Given the description of an element on the screen output the (x, y) to click on. 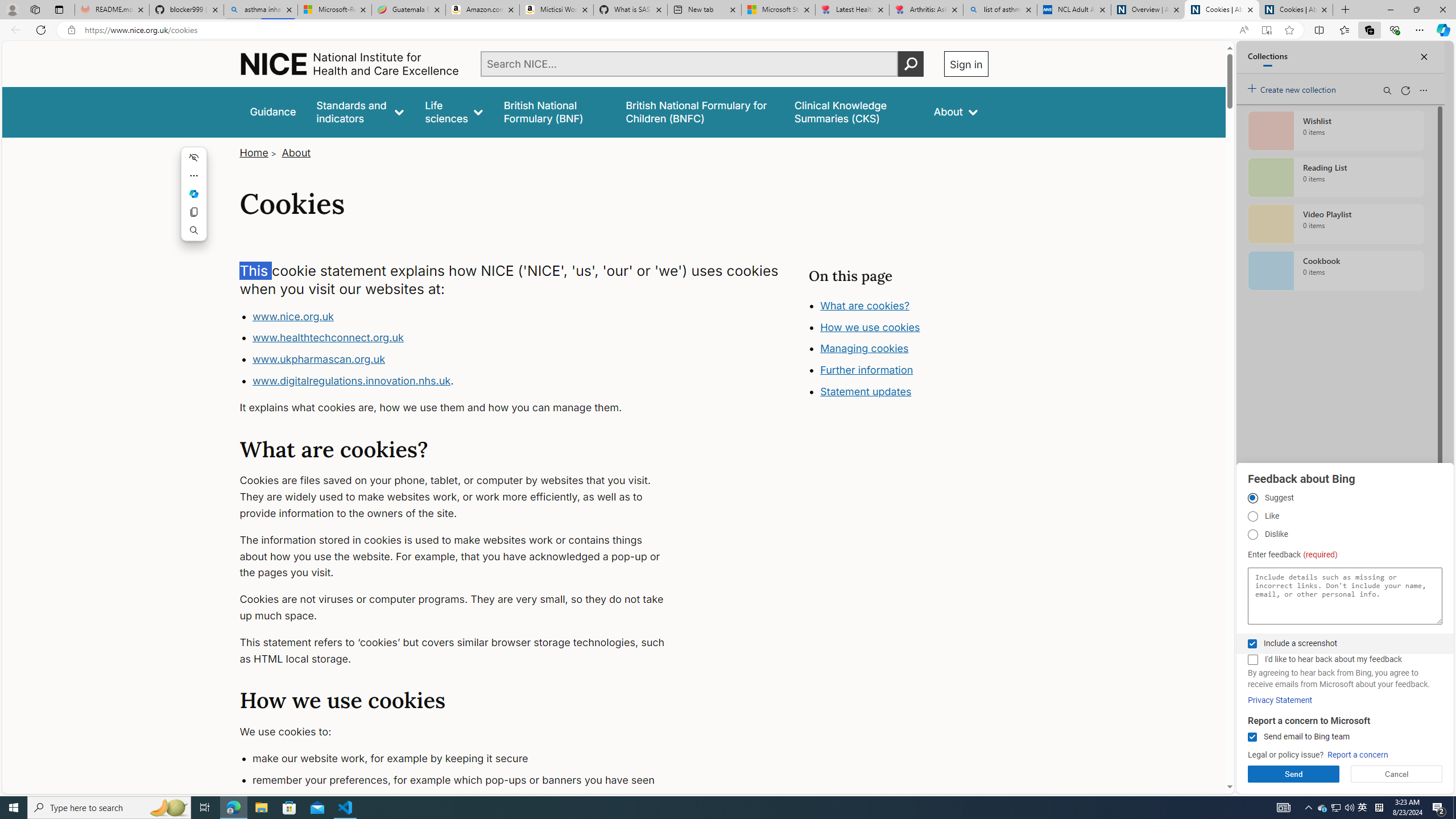
Ask Copilot (194, 194)
Guidance (272, 111)
Sign in (965, 63)
What are cookies? (864, 305)
Privacy Statement (1280, 700)
Report a concern (1358, 755)
make our website work, for example by keeping it secure (464, 759)
Hide menu (194, 157)
Home> (258, 152)
